Given the description of an element on the screen output the (x, y) to click on. 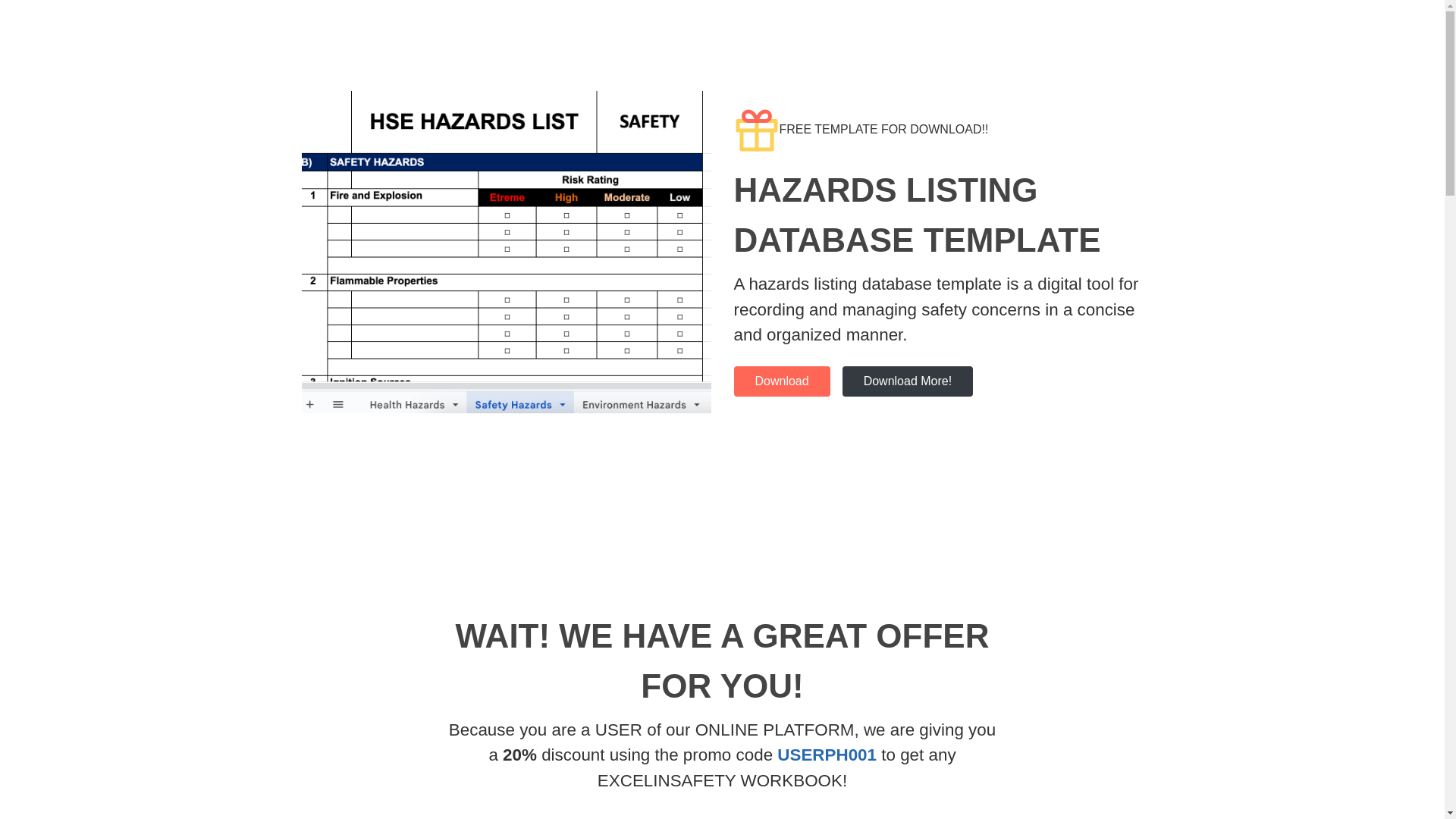
hazards-listing-database-template (781, 381)
Download More! (908, 381)
Excelinsafety Online (908, 381)
Download (781, 381)
